Given the description of an element on the screen output the (x, y) to click on. 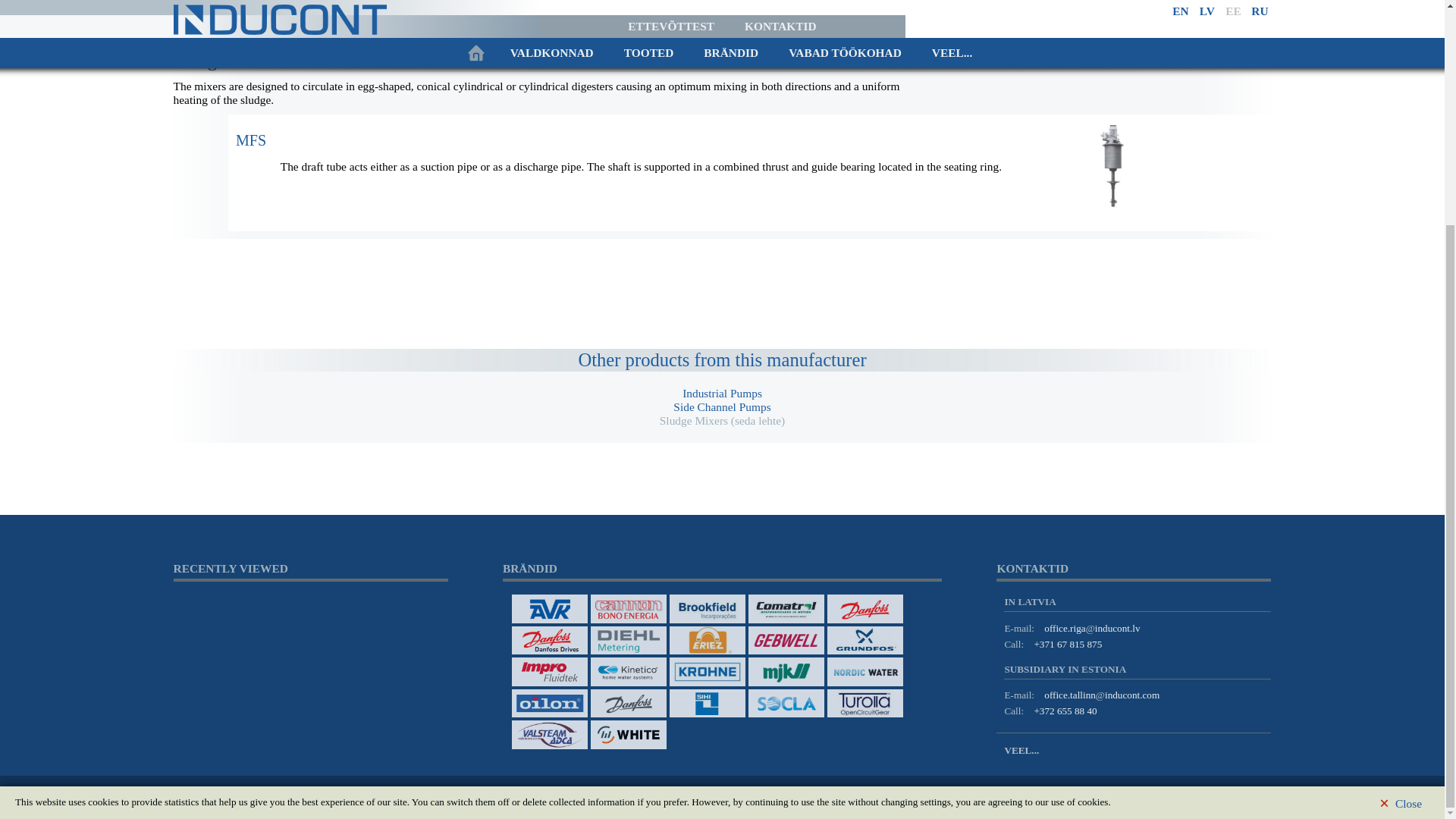
Click to expand (250, 182)
